Given the description of an element on the screen output the (x, y) to click on. 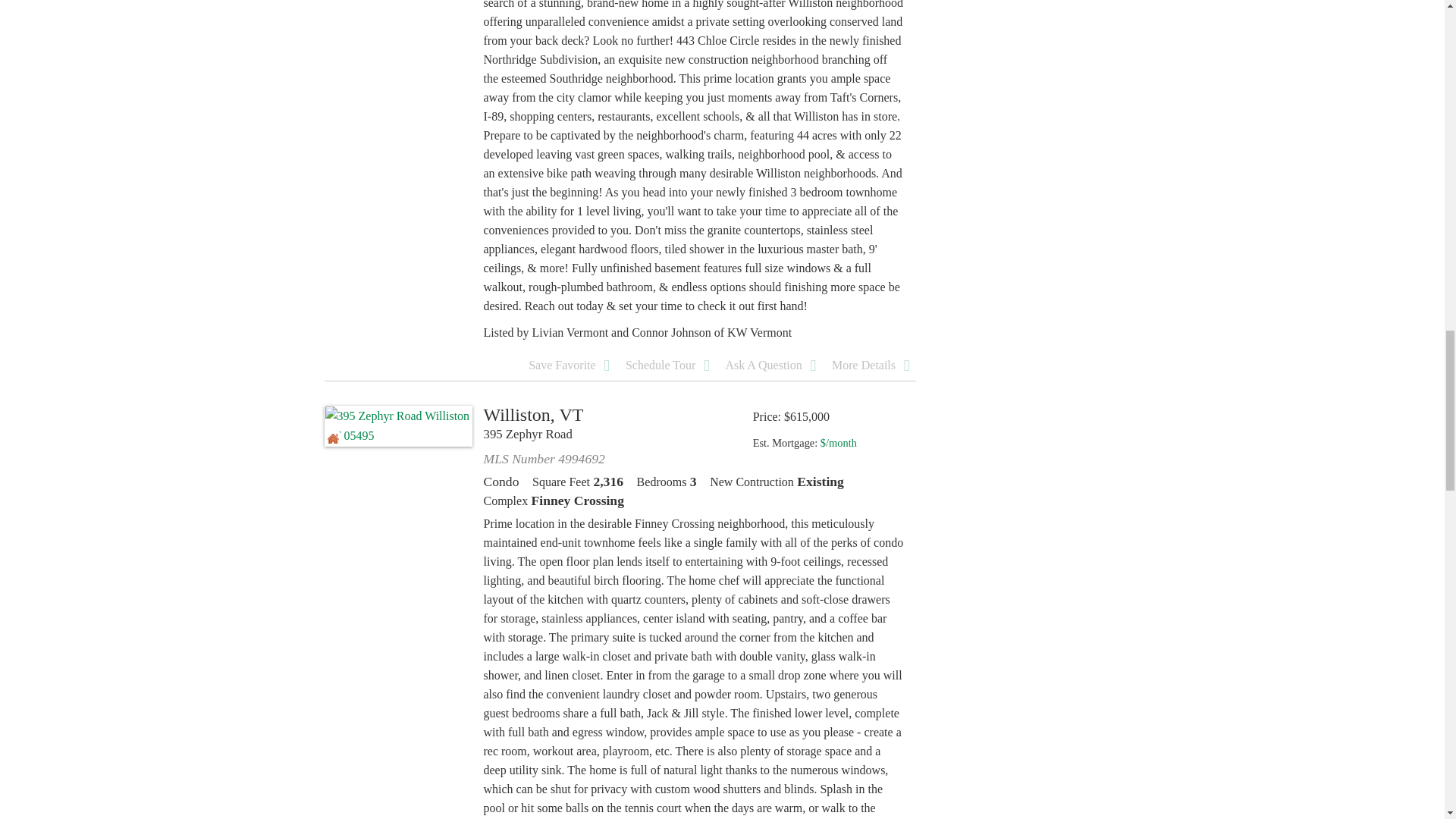
Schedule Tour (668, 364)
Favorite (568, 364)
Ask A Question (770, 364)
More Details (870, 364)
